Given the description of an element on the screen output the (x, y) to click on. 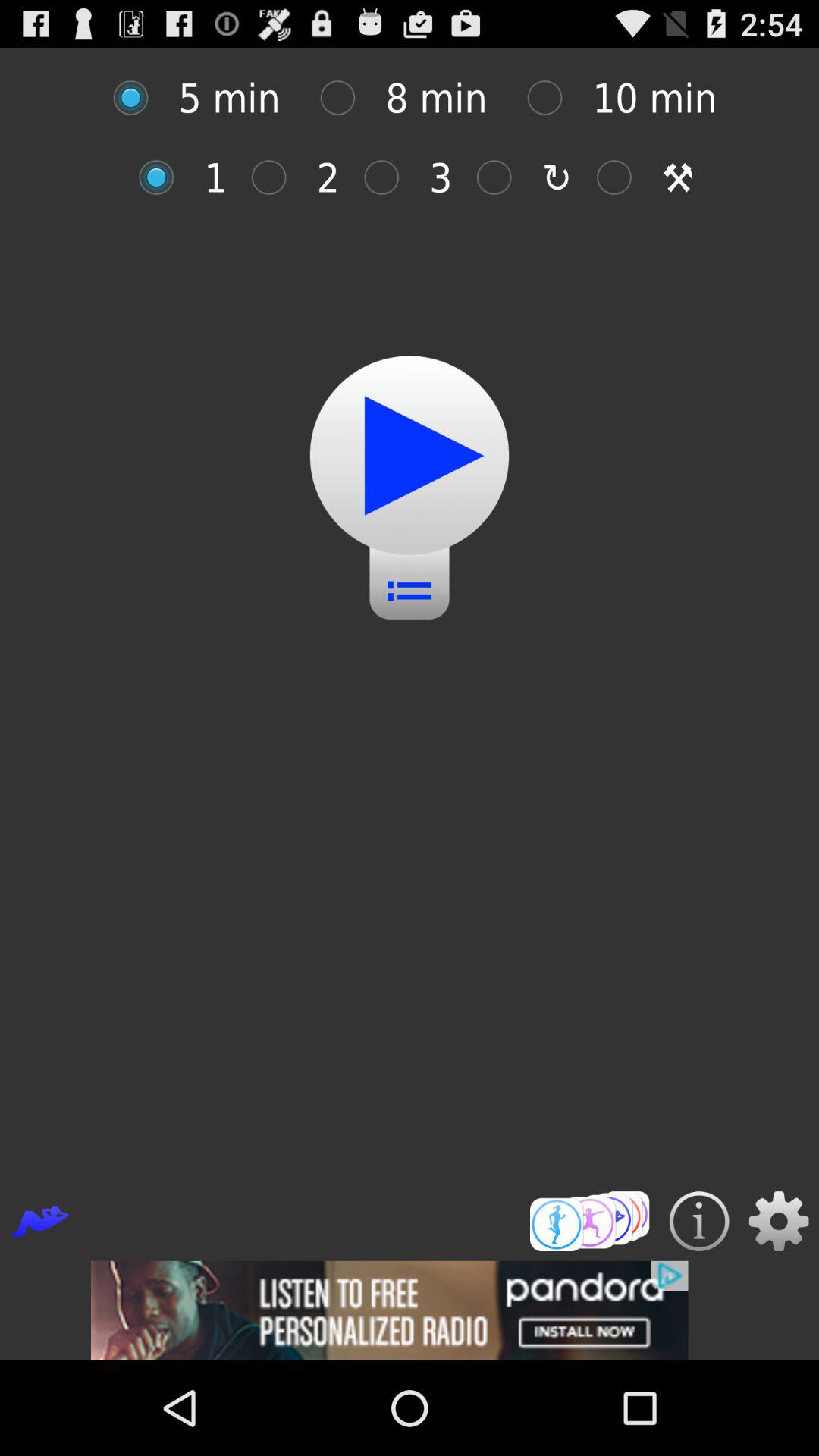
select duration (552, 97)
